Given the description of an element on the screen output the (x, y) to click on. 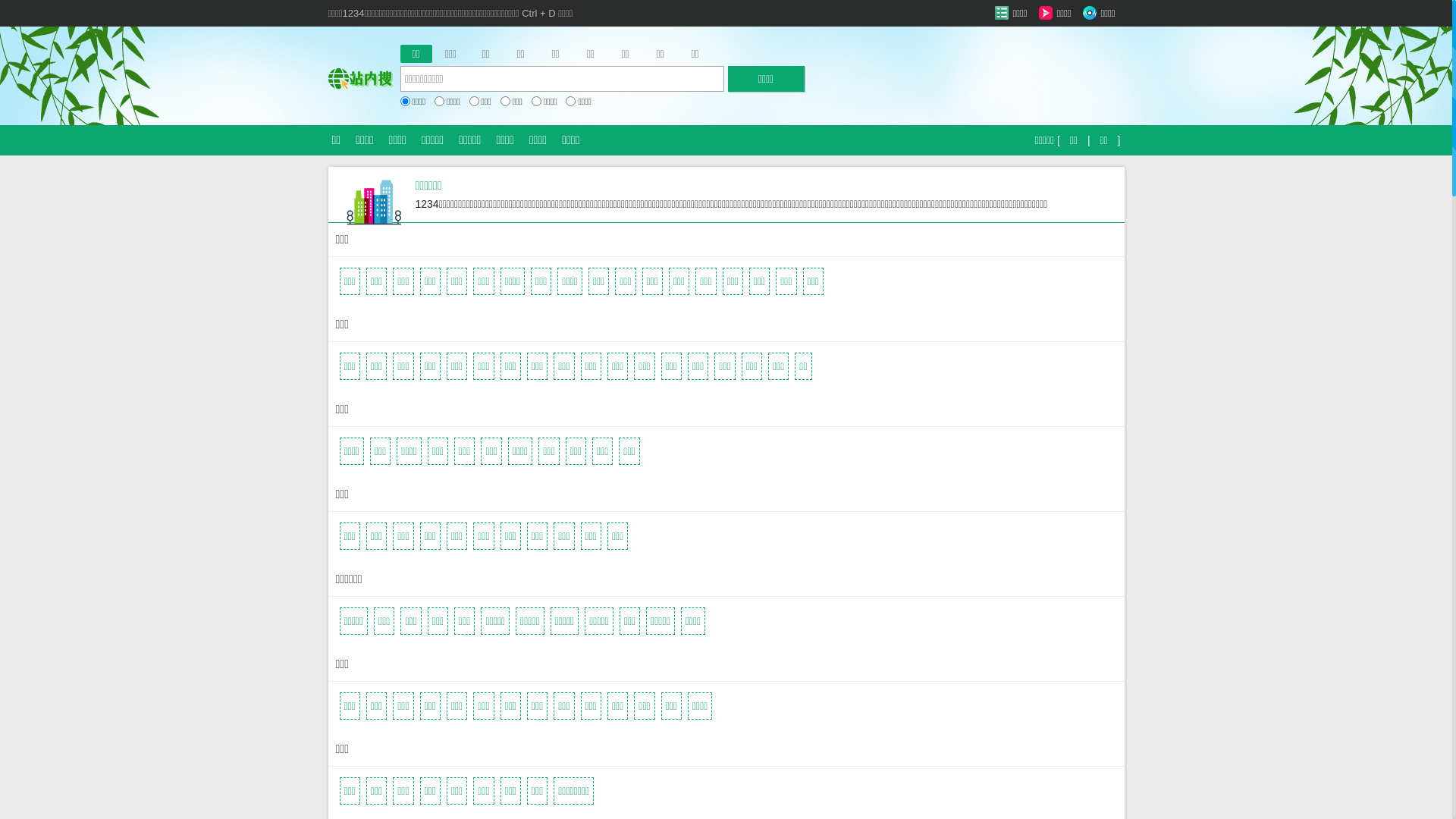
on Element type: text (570, 101)
on Element type: text (505, 101)
on Element type: text (474, 101)
on Element type: text (439, 101)
on Element type: text (536, 101)
on Element type: text (405, 101)
